Given the description of an element on the screen output the (x, y) to click on. 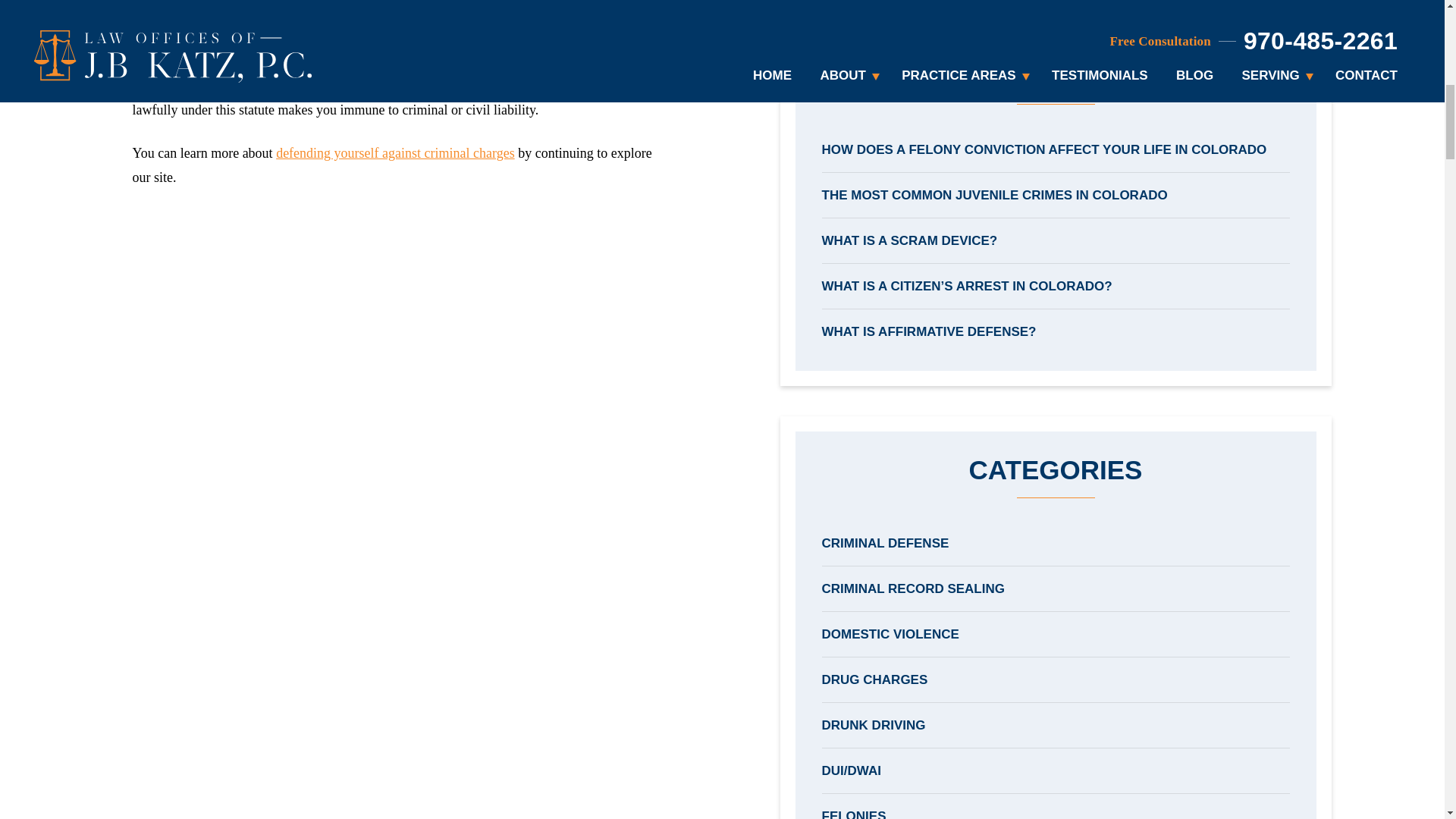
CRIMINAL RECORD SEALING (1056, 588)
FELONIES (1056, 811)
CRIMINAL DEFENSE (1056, 543)
THE MOST COMMON JUVENILE CRIMES IN COLORADO (1056, 195)
WHAT IS A SCRAM DEVICE? (1056, 240)
DRUNK DRIVING (1056, 724)
WHAT IS AFFIRMATIVE DEFENSE? (1056, 331)
DOMESTIC VIOLENCE (1056, 634)
DRUG CHARGES (1056, 679)
defending yourself against criminal charges (395, 152)
HOW DOES A FELONY CONVICTION AFFECT YOUR LIFE IN COLORADO (1056, 149)
